Given the description of an element on the screen output the (x, y) to click on. 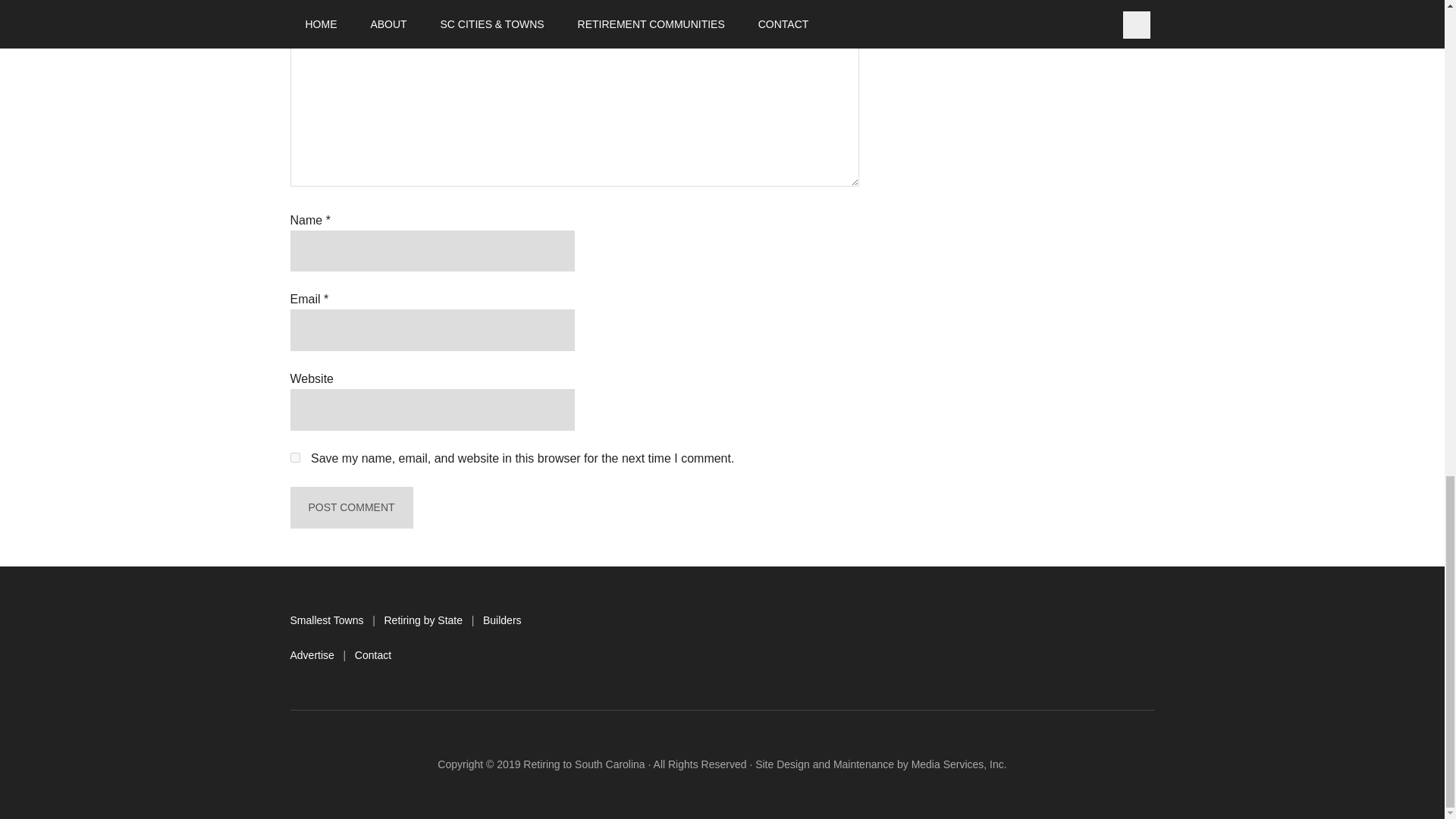
Advertise (311, 654)
Post Comment (350, 507)
Retiring by State (423, 620)
Retiring to South Carolina (583, 764)
Media Services, Inc. (959, 764)
Builders (502, 620)
yes (294, 457)
Retiring to South Carolina (583, 764)
Contact (373, 654)
Smallest Towns (325, 620)
Post Comment (350, 507)
